Given the description of an element on the screen output the (x, y) to click on. 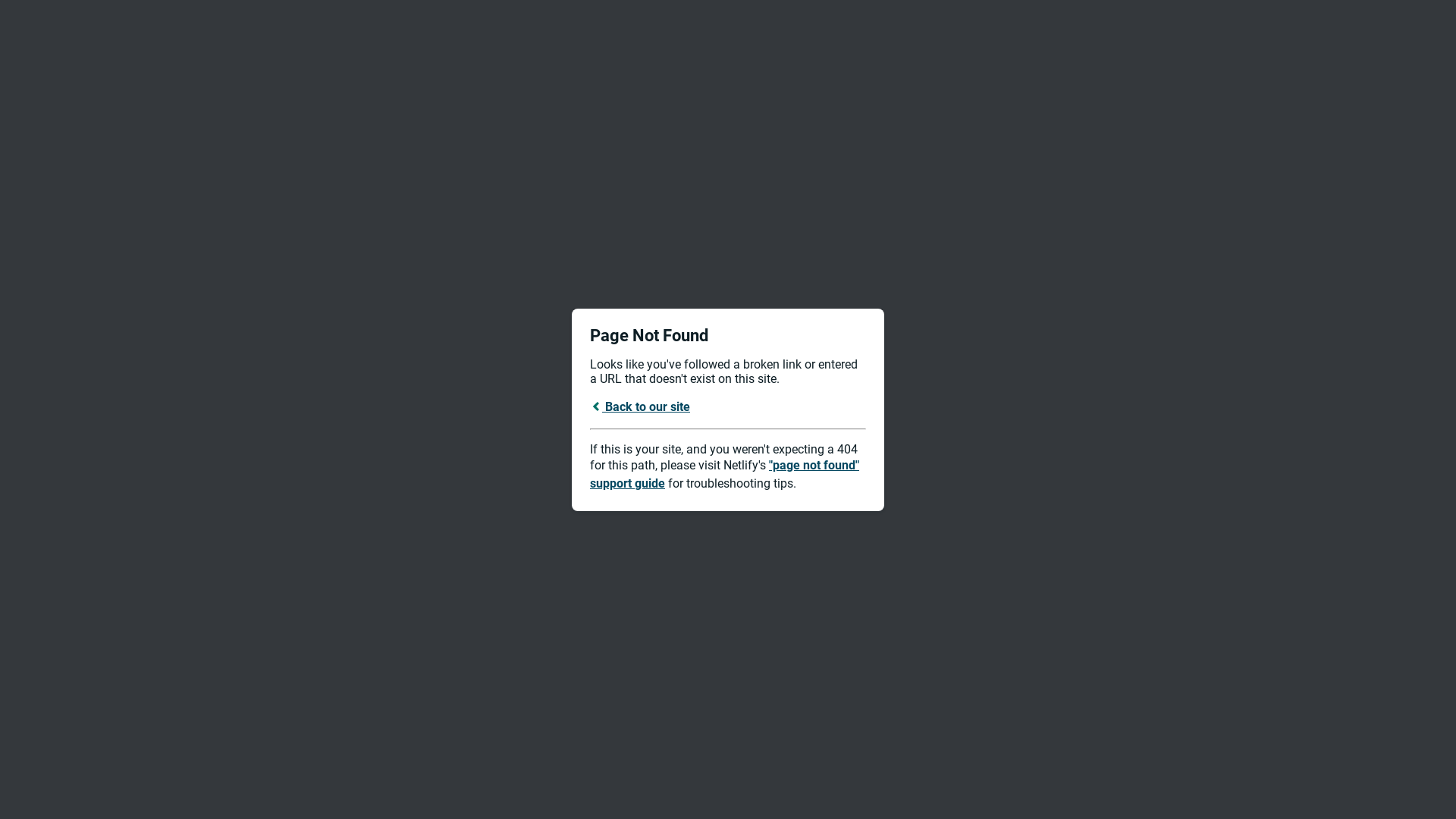
"page not found" support guide Element type: text (724, 474)
Back to our site Element type: text (639, 405)
